Given the description of an element on the screen output the (x, y) to click on. 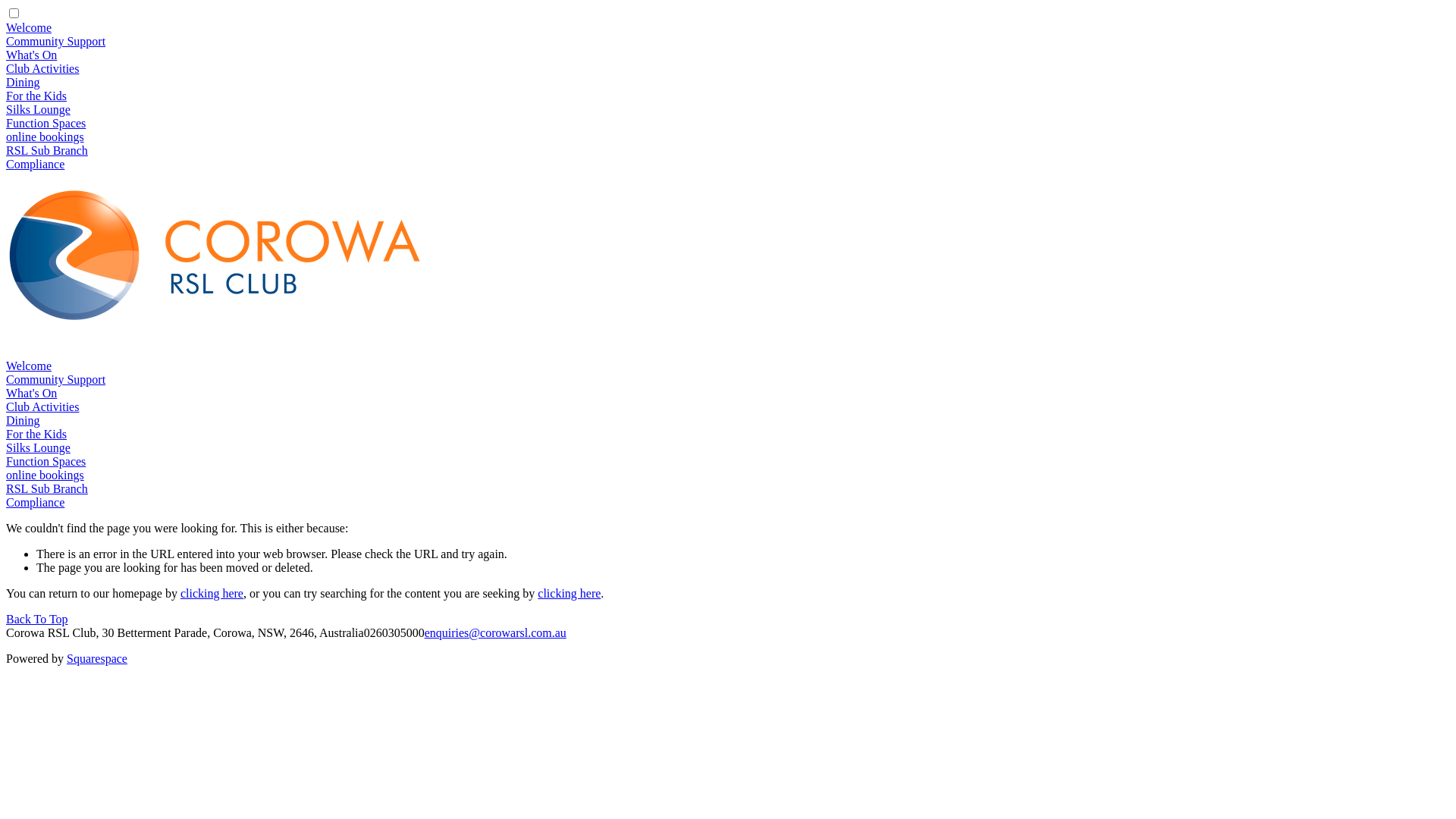
Dining Element type: text (22, 420)
RSL Sub Branch Element type: text (46, 150)
What's On Element type: text (31, 54)
Club Activities Element type: text (42, 406)
Dining Element type: text (22, 81)
Welcome Element type: text (28, 27)
Function Spaces Element type: text (45, 122)
Back To Top Element type: text (37, 618)
For the Kids Element type: text (36, 95)
Community Support Element type: text (55, 40)
Community Support Element type: text (55, 379)
Welcome Element type: text (28, 365)
Silks Lounge Element type: text (38, 109)
Squarespace Element type: text (96, 658)
Function Spaces Element type: text (45, 461)
Silks Lounge Element type: text (38, 447)
RSL Sub Branch Element type: text (46, 488)
Compliance Element type: text (35, 501)
For the Kids Element type: text (36, 433)
clicking here Element type: text (211, 592)
What's On Element type: text (31, 392)
online bookings Element type: text (45, 474)
Compliance Element type: text (35, 163)
enquiries@corowarsl.com.au Element type: text (495, 632)
online bookings Element type: text (45, 136)
clicking here Element type: text (568, 592)
Club Activities Element type: text (42, 68)
